Given the description of an element on the screen output the (x, y) to click on. 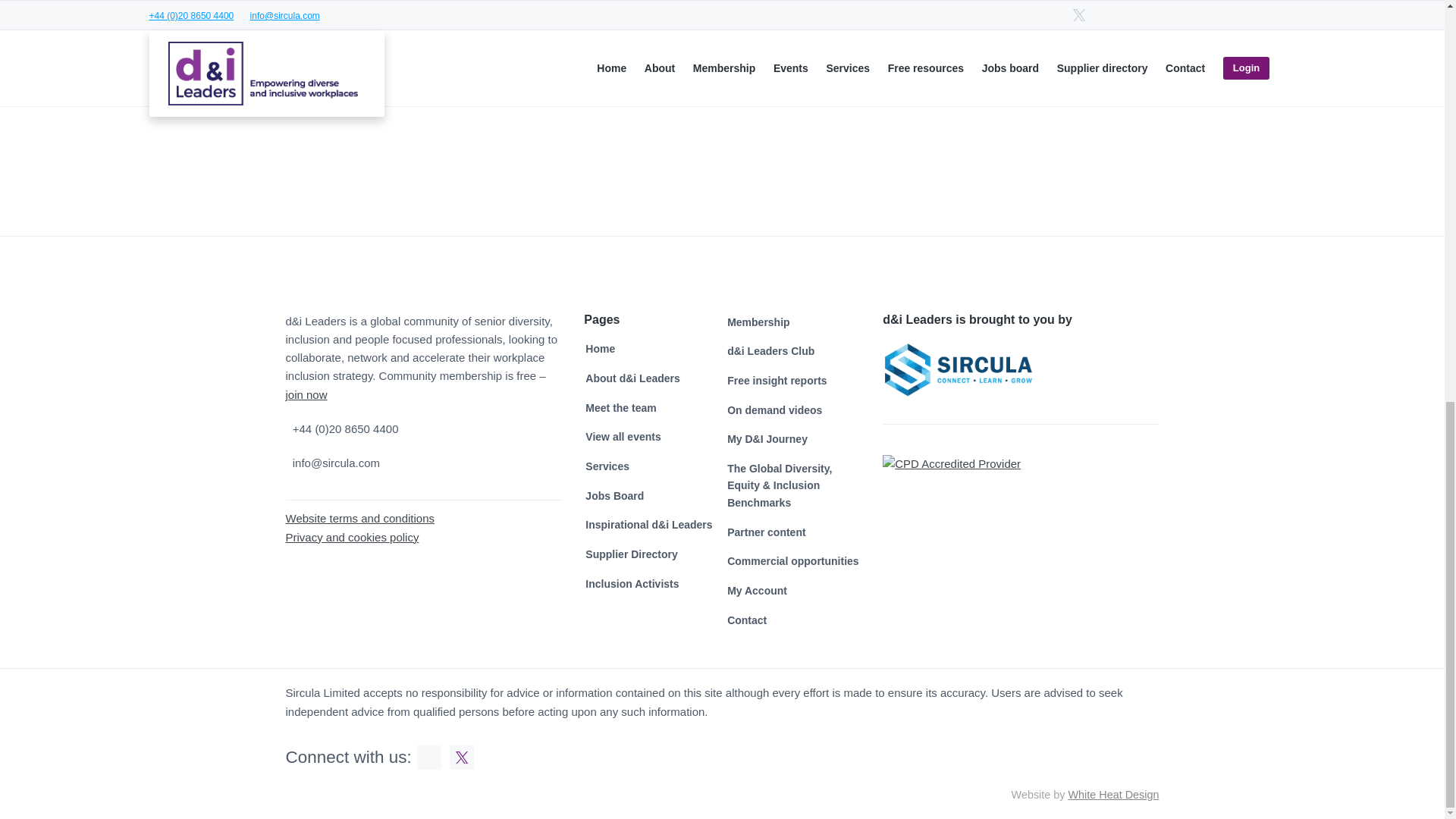
Find out more (1077, 94)
